Given the description of an element on the screen output the (x, y) to click on. 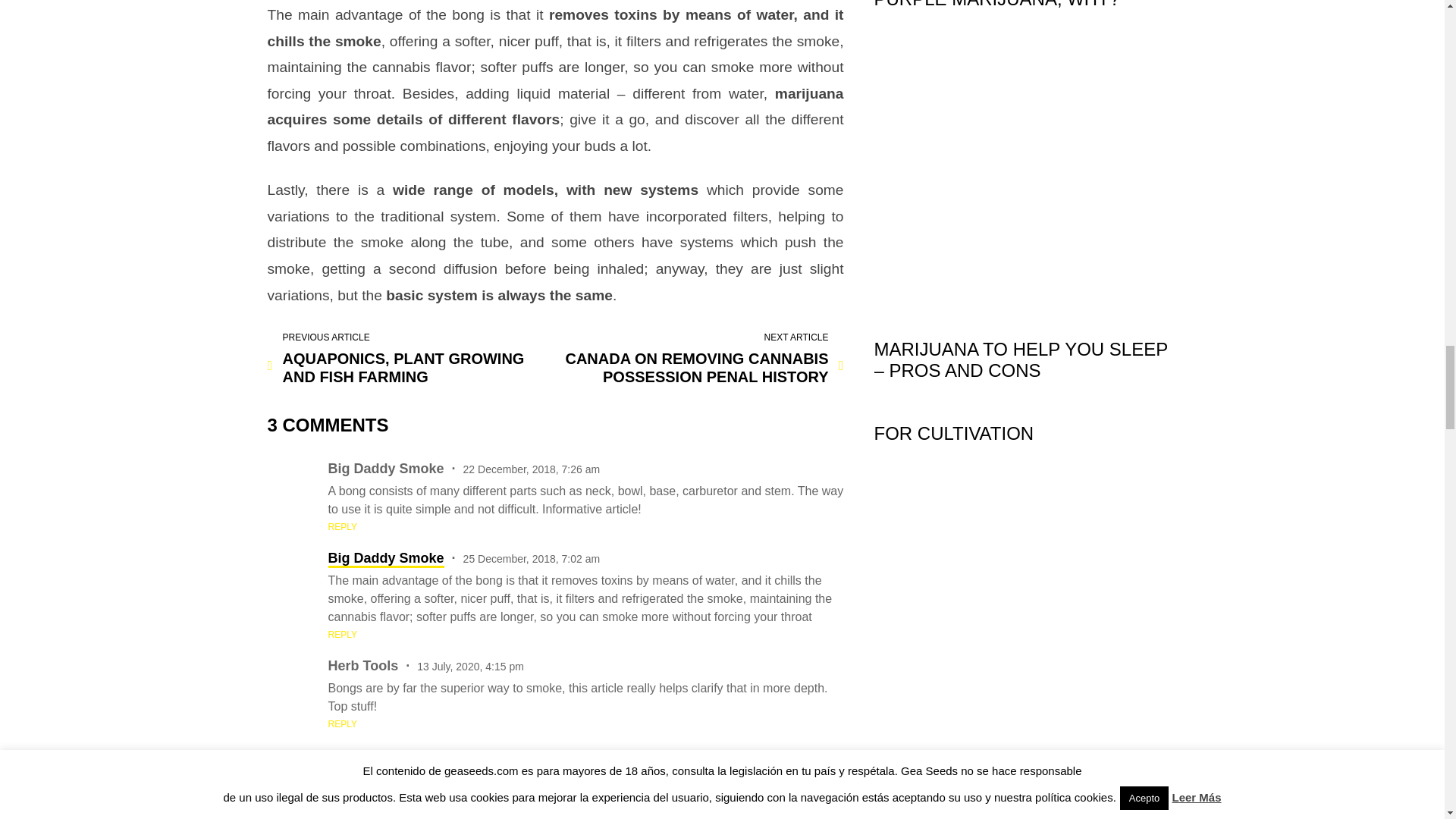
AQUAPONICS, PLANT GROWING AND FISH FARMING (407, 358)
